Given the description of an element on the screen output the (x, y) to click on. 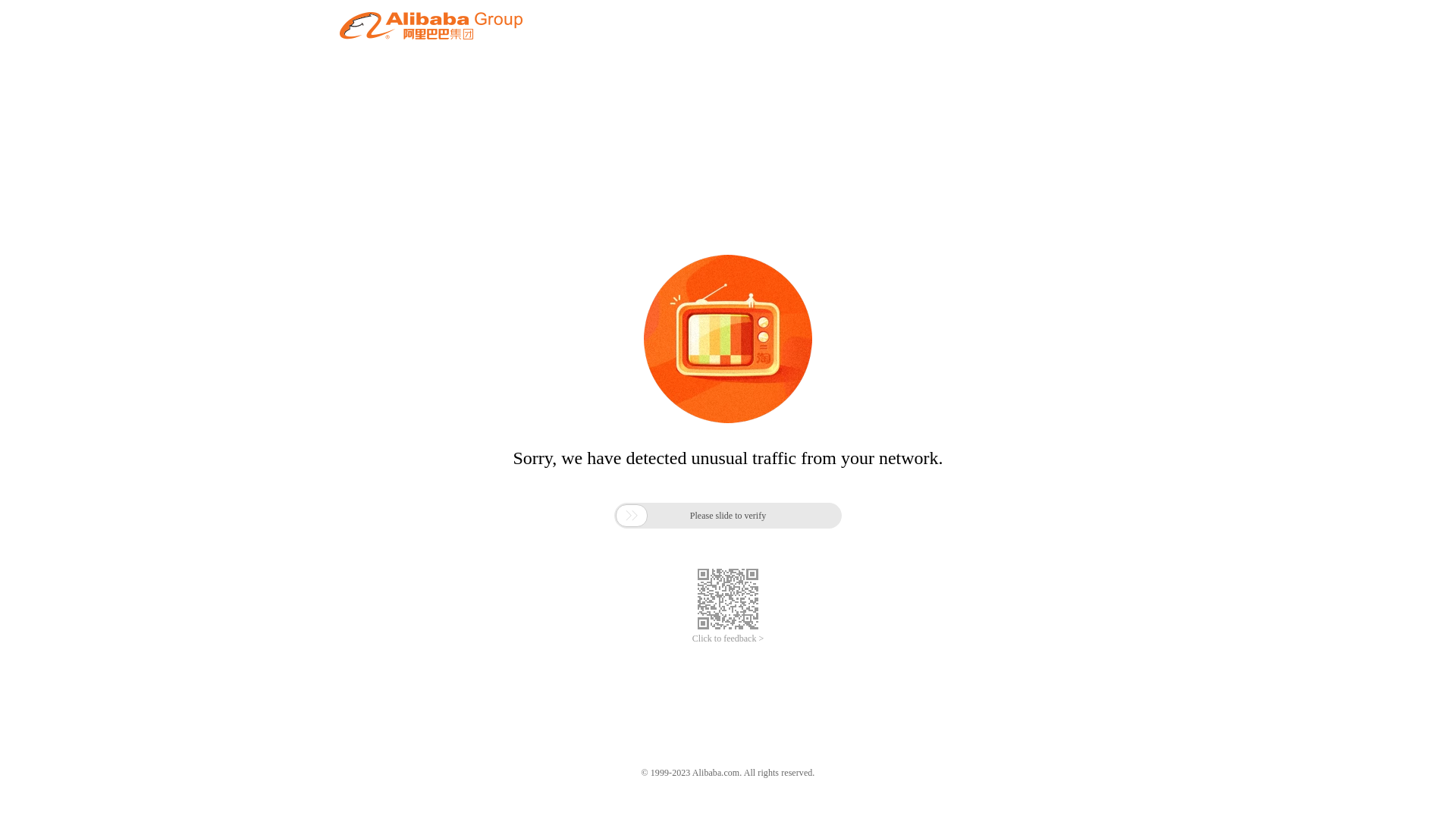
Click to feedback > Element type: text (727, 638)
